Given the description of an element on the screen output the (x, y) to click on. 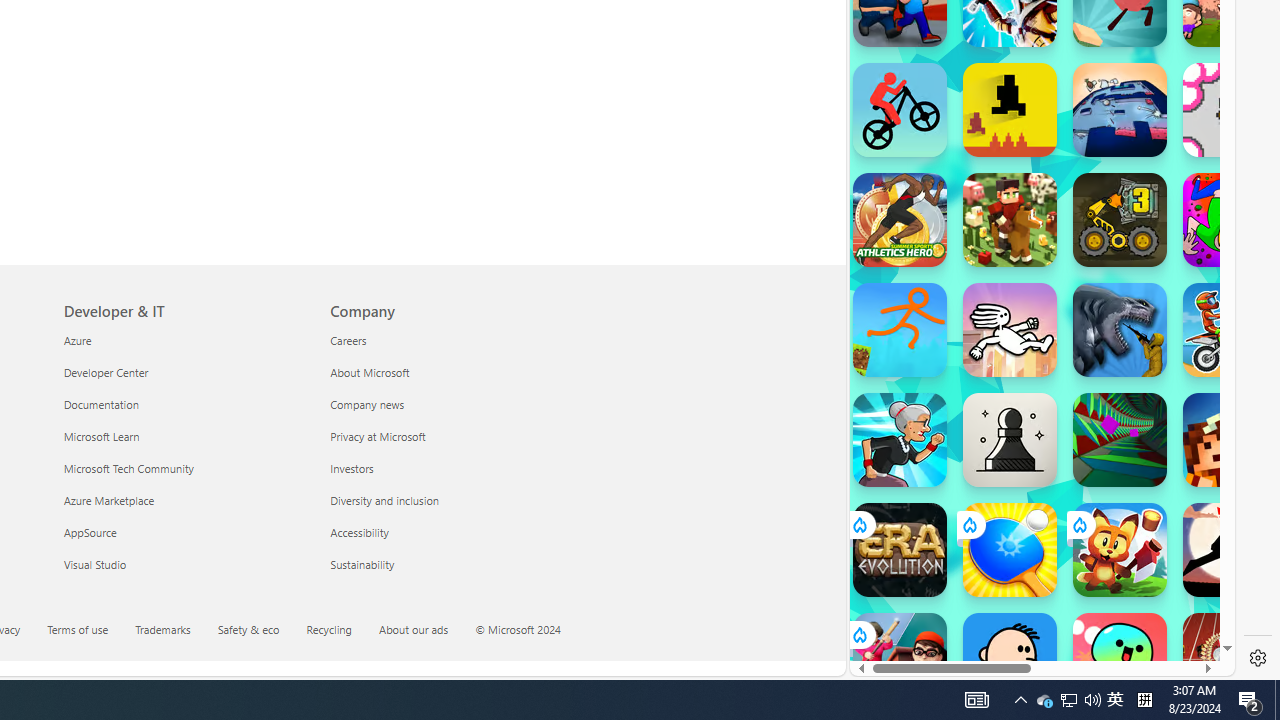
Sustainability Company (362, 563)
poki.com (1092, 338)
Privacy at Microsoft Company (378, 435)
Accessibility Company (359, 532)
Stickman Bike (899, 109)
Microsoft Tech Community Developer & IT (128, 467)
